Given the description of an element on the screen output the (x, y) to click on. 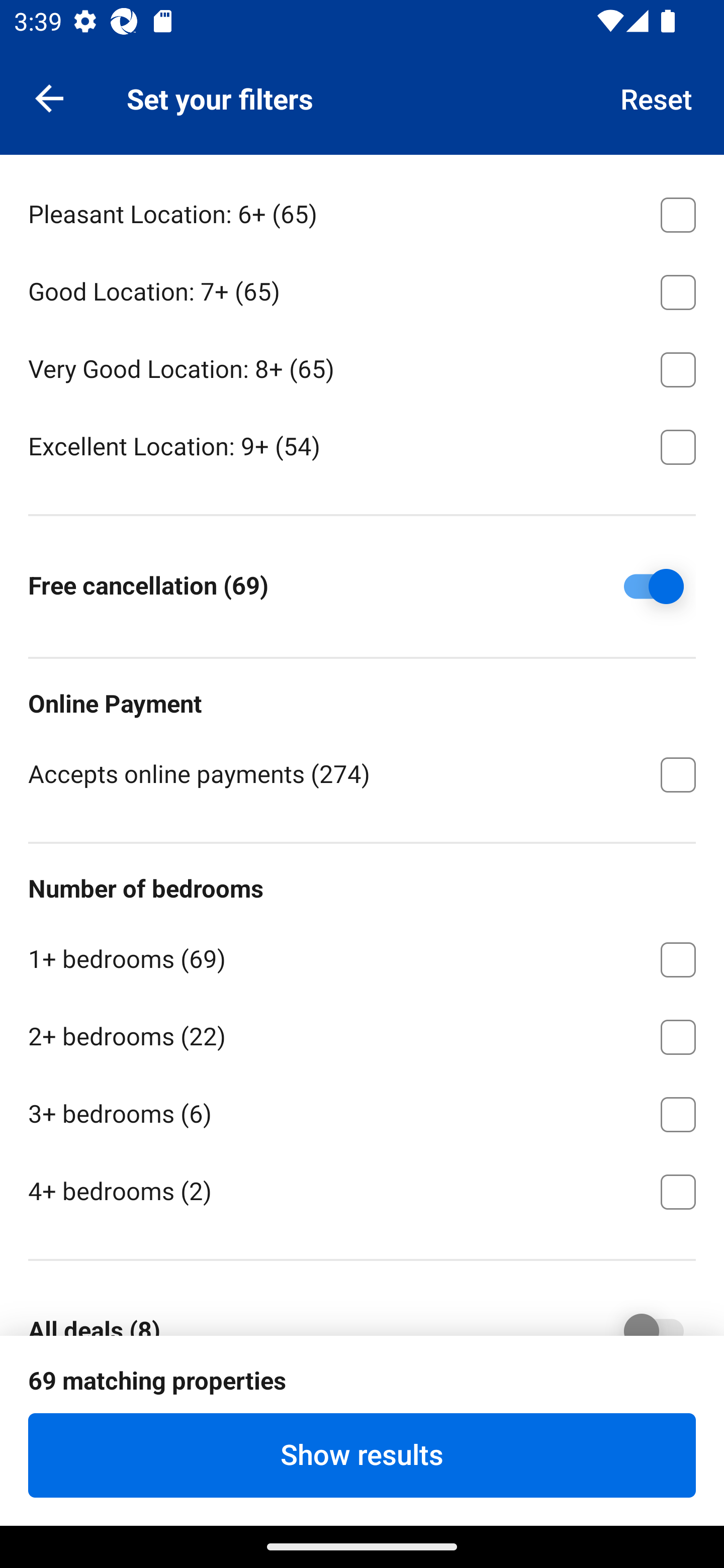
Navigate up (49, 97)
Reset (656, 97)
Pleasant Location: 6+ ⁦(65) (361, 211)
Good Location: 7+ ⁦(65) (361, 288)
Very Good Location: 8+ ⁦(65) (361, 365)
Excellent Location: 9+ ⁦(54) (361, 445)
Free cancellation ⁦(69) (639, 586)
Accepts online payments ⁦(274) (361, 772)
1+ bedrooms ⁦(69) (361, 956)
2+ bedrooms ⁦(22) (361, 1033)
3+ bedrooms ⁦(6) (361, 1110)
4+ bedrooms ⁦(2) (361, 1189)
All deals ⁦(8) (639, 1311)
Show results (361, 1454)
